Given the description of an element on the screen output the (x, y) to click on. 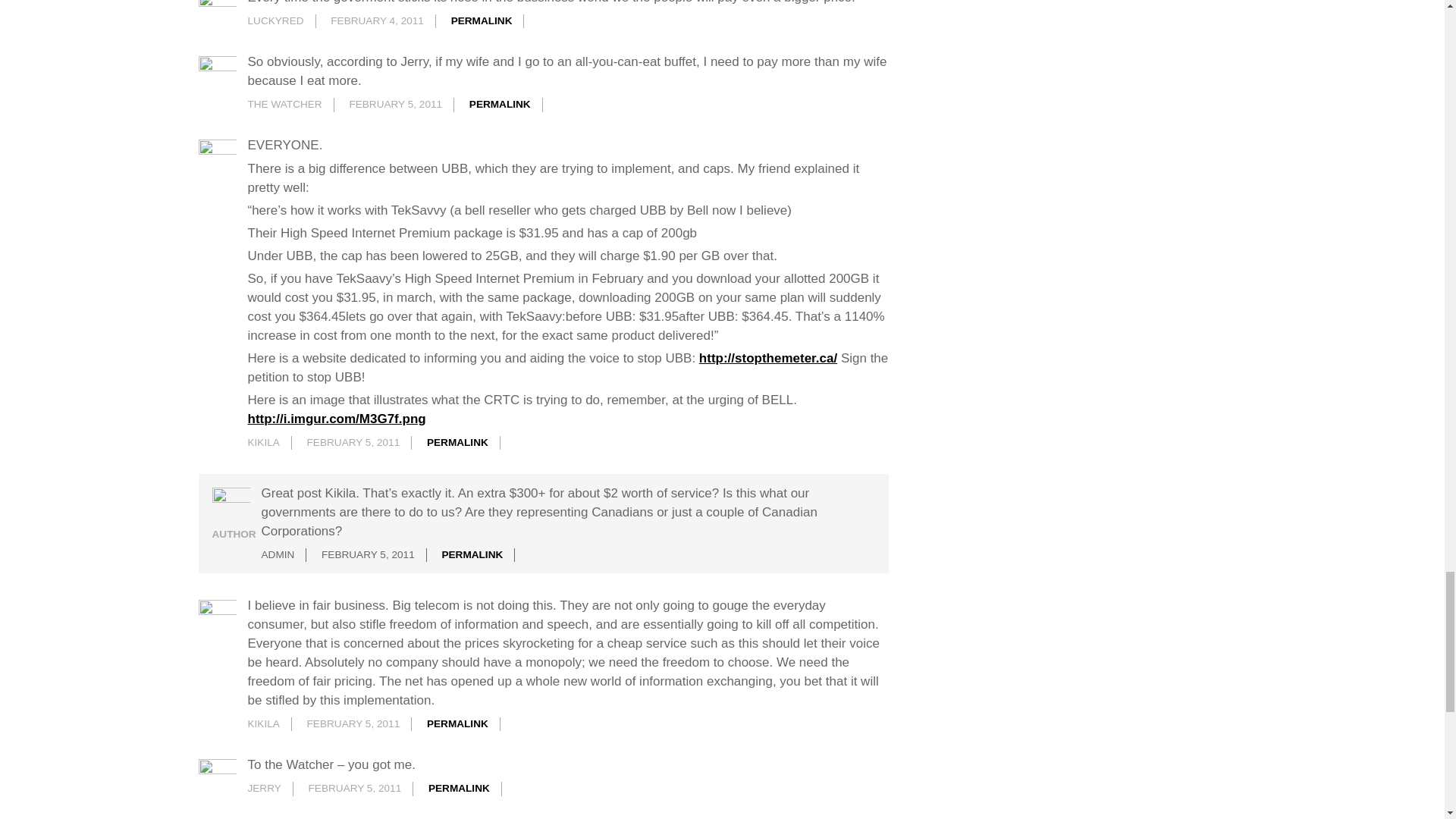
Friday, February 4, 2011, 7:59 pm (376, 20)
Saturday, February 5, 2011, 10:54 am (353, 441)
Saturday, February 5, 2011, 9:56 am (395, 103)
